Given the description of an element on the screen output the (x, y) to click on. 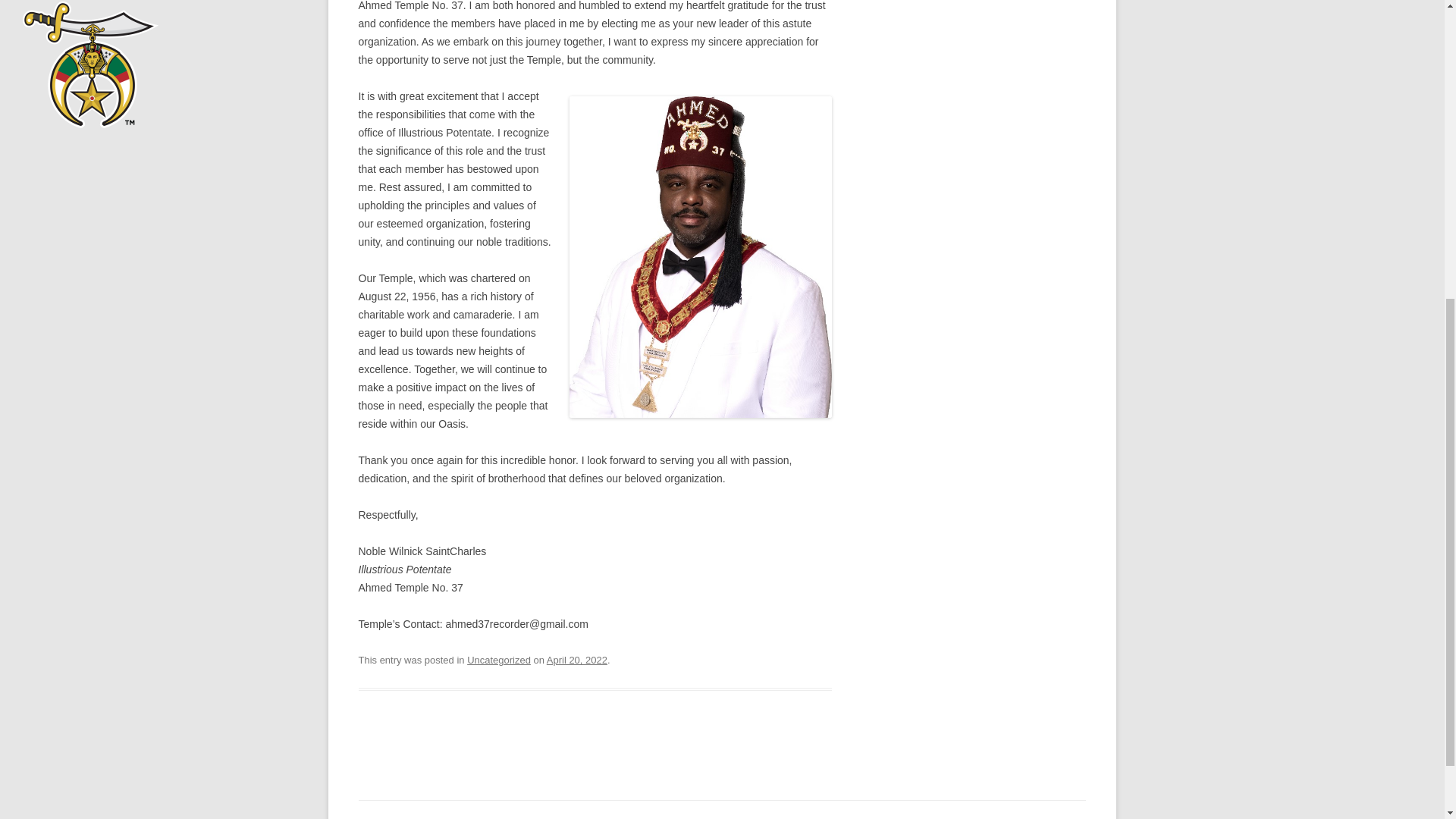
3:30 pm (577, 659)
Uncategorized (499, 659)
April 20, 2022 (577, 659)
